Given the description of an element on the screen output the (x, y) to click on. 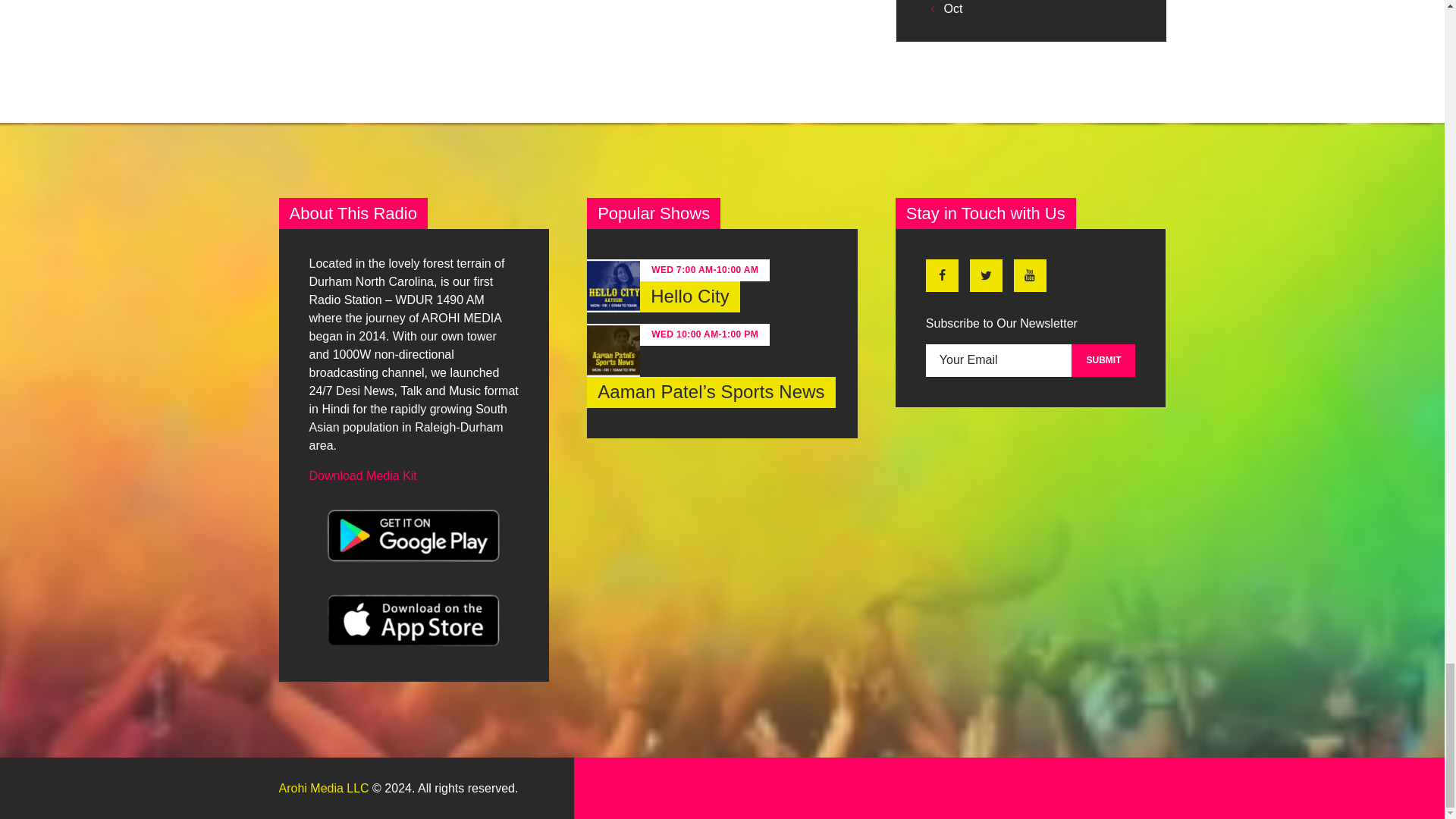
Submit (1103, 359)
Hello City (689, 296)
